Given the description of an element on the screen output the (x, y) to click on. 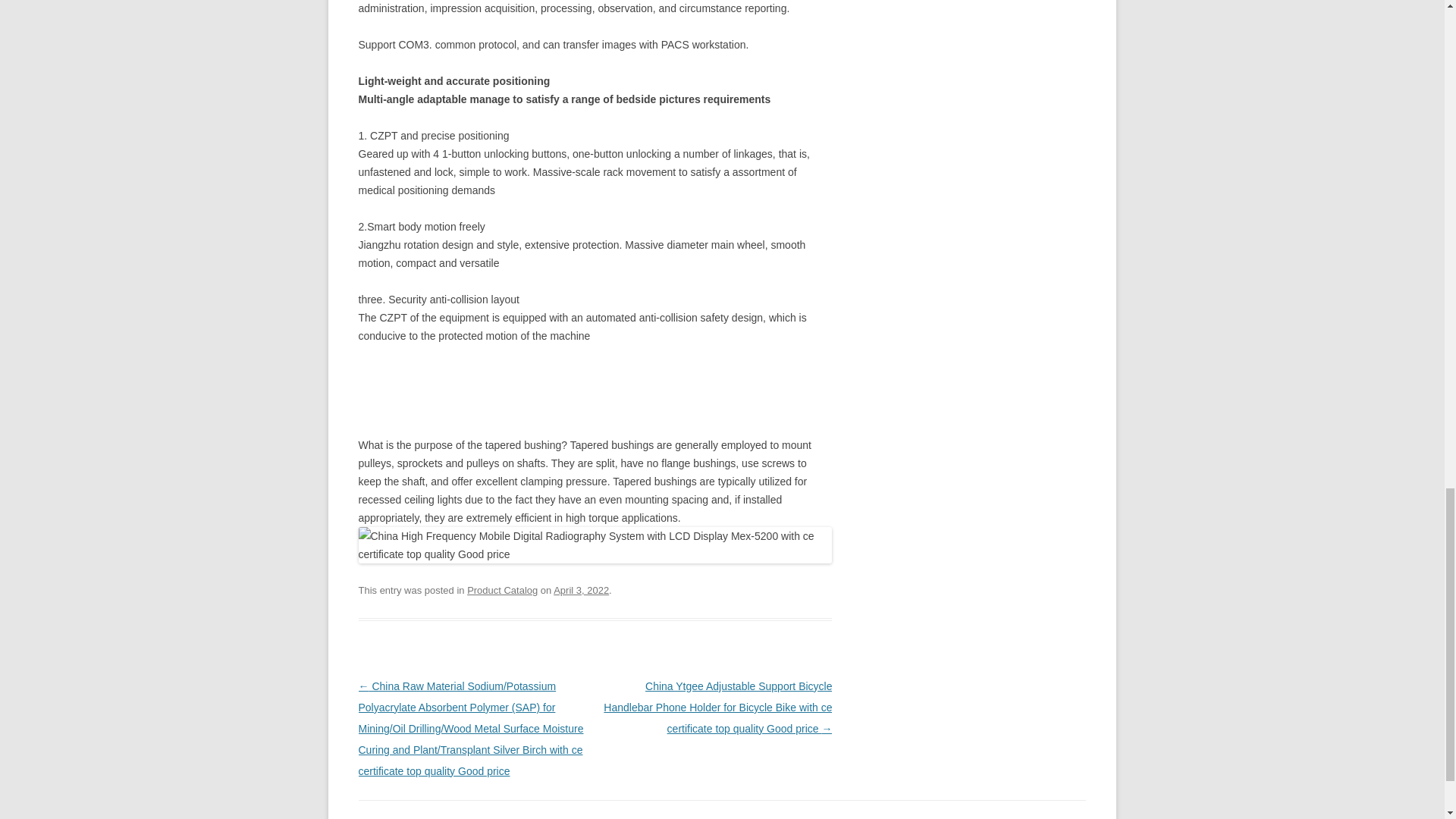
4:30 am (580, 590)
April 3, 2022 (580, 590)
Product Catalog (502, 590)
